Given the description of an element on the screen output the (x, y) to click on. 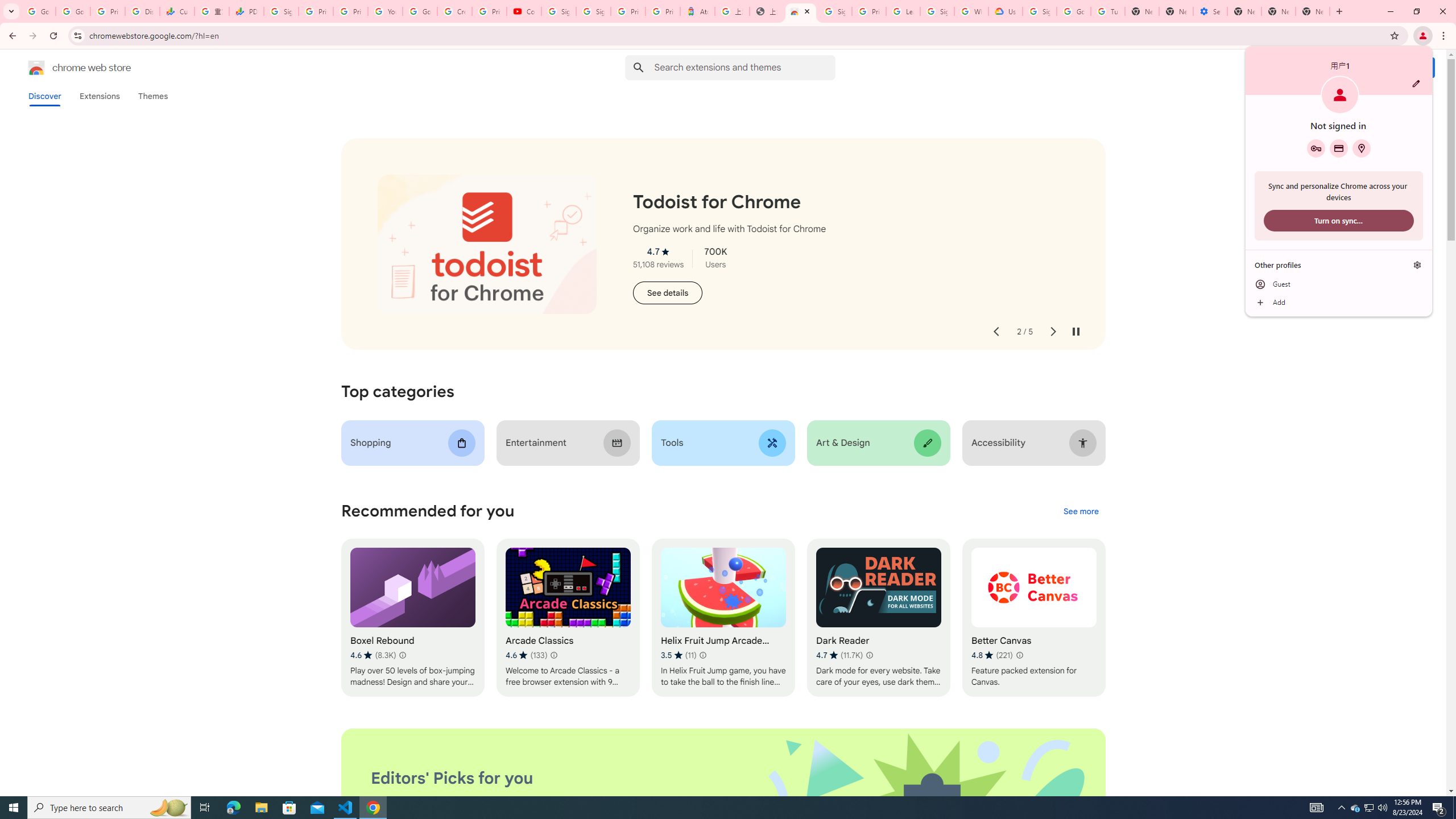
Next slide (1052, 331)
Action Center, 2 new notifications (1439, 807)
PDD Holdings Inc - ADR (PDD) Price & News - Google Finance (246, 11)
Customize profile (1415, 83)
Google Account Help (419, 11)
Sign in - Google Accounts (592, 11)
AutomationID: 4105 (1316, 807)
Atour Hotel - Google hotels (697, 11)
Visual Studio Code - 1 running window (345, 807)
Learn more about results and reviews "Arcade Classics" (553, 655)
Entertainment (567, 443)
